Given the description of an element on the screen output the (x, y) to click on. 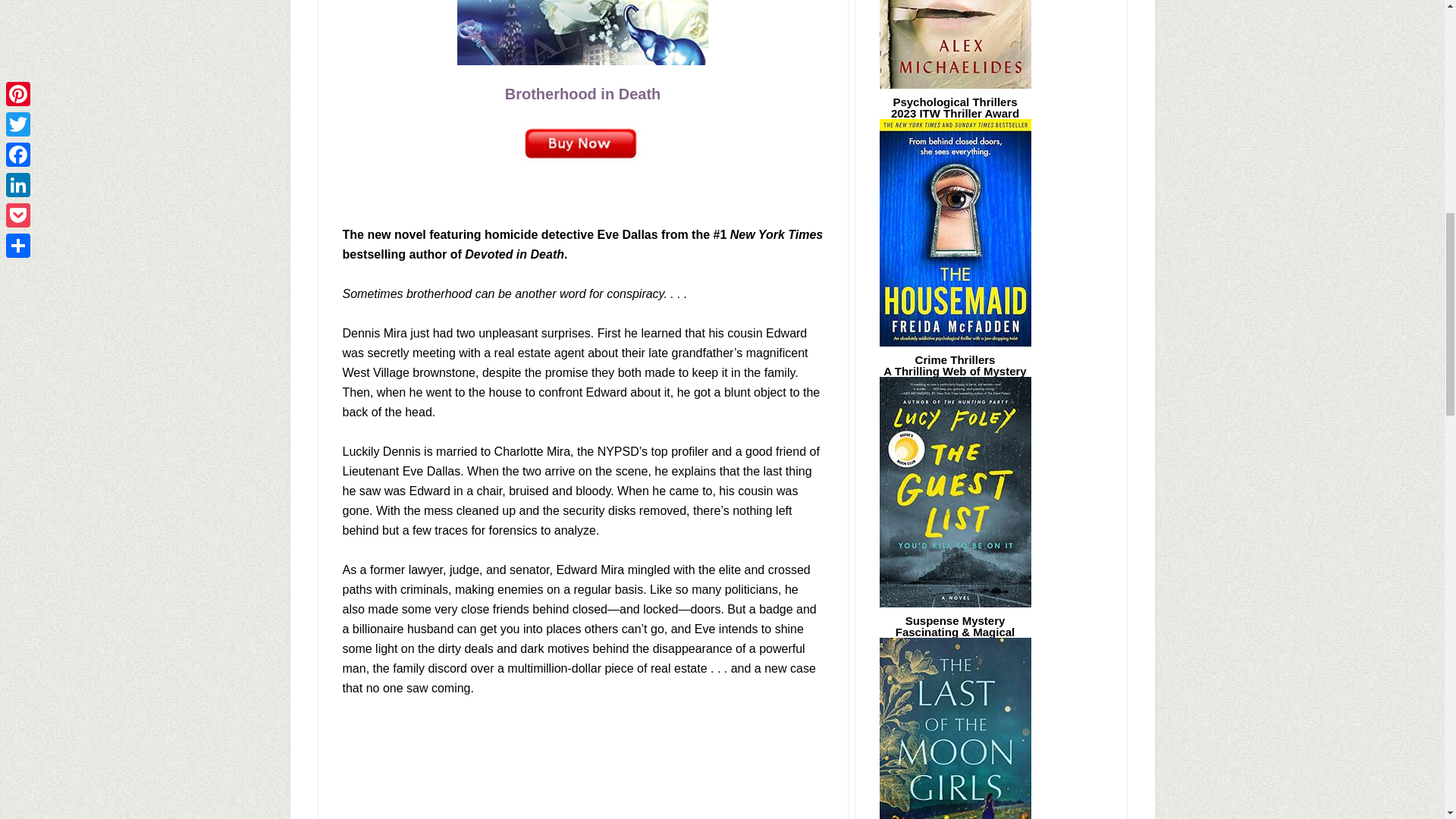
Brotherhood in Death (583, 93)
